Given the description of an element on the screen output the (x, y) to click on. 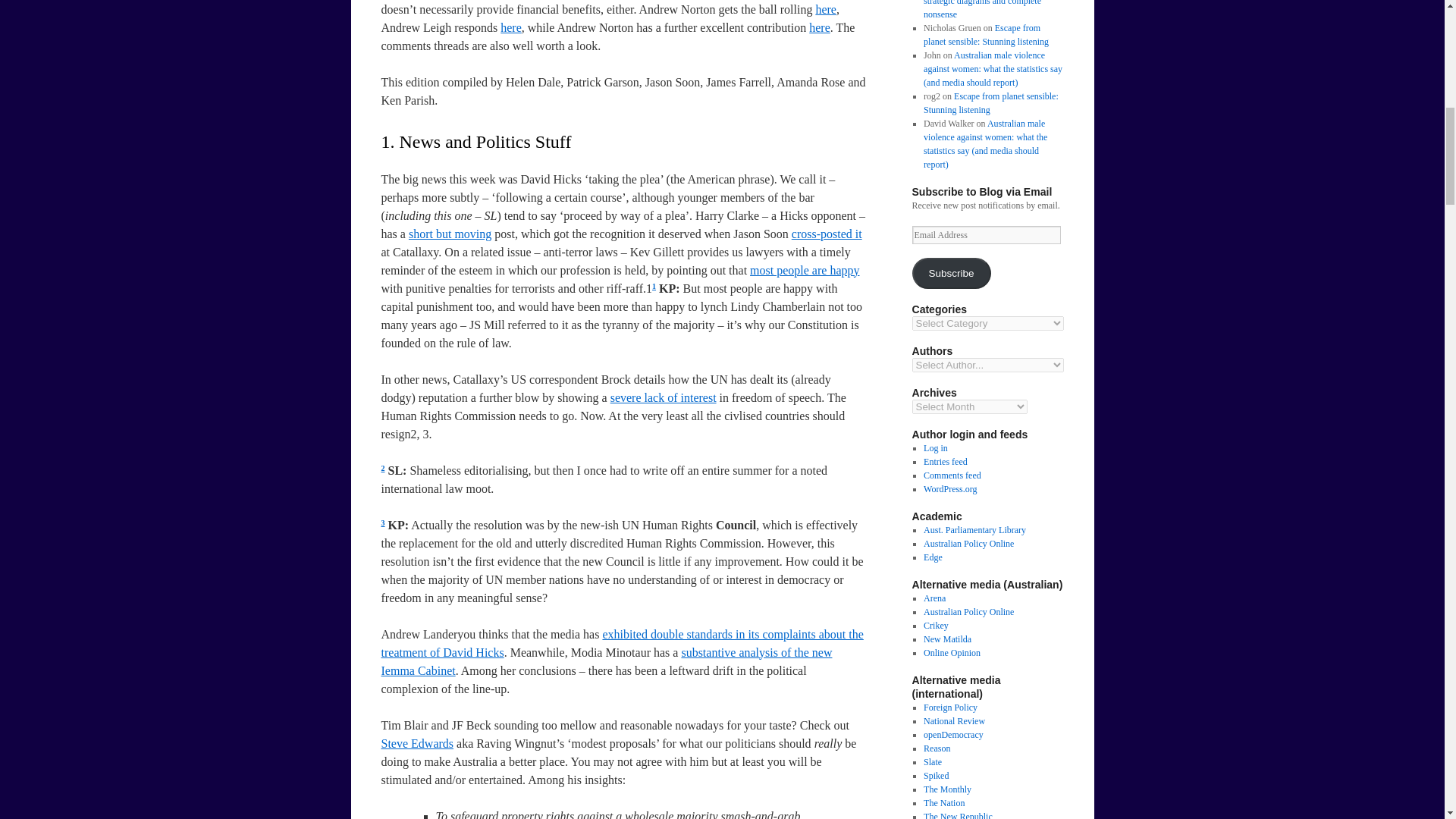
most people are happy (804, 269)
substantive analysis of the new Iemma Cabinet (605, 661)
here (819, 27)
here (510, 27)
Steve Edwards (416, 743)
short but moving (450, 233)
cross-posted it (826, 233)
here (825, 9)
severe lack of interest (663, 397)
